Given the description of an element on the screen output the (x, y) to click on. 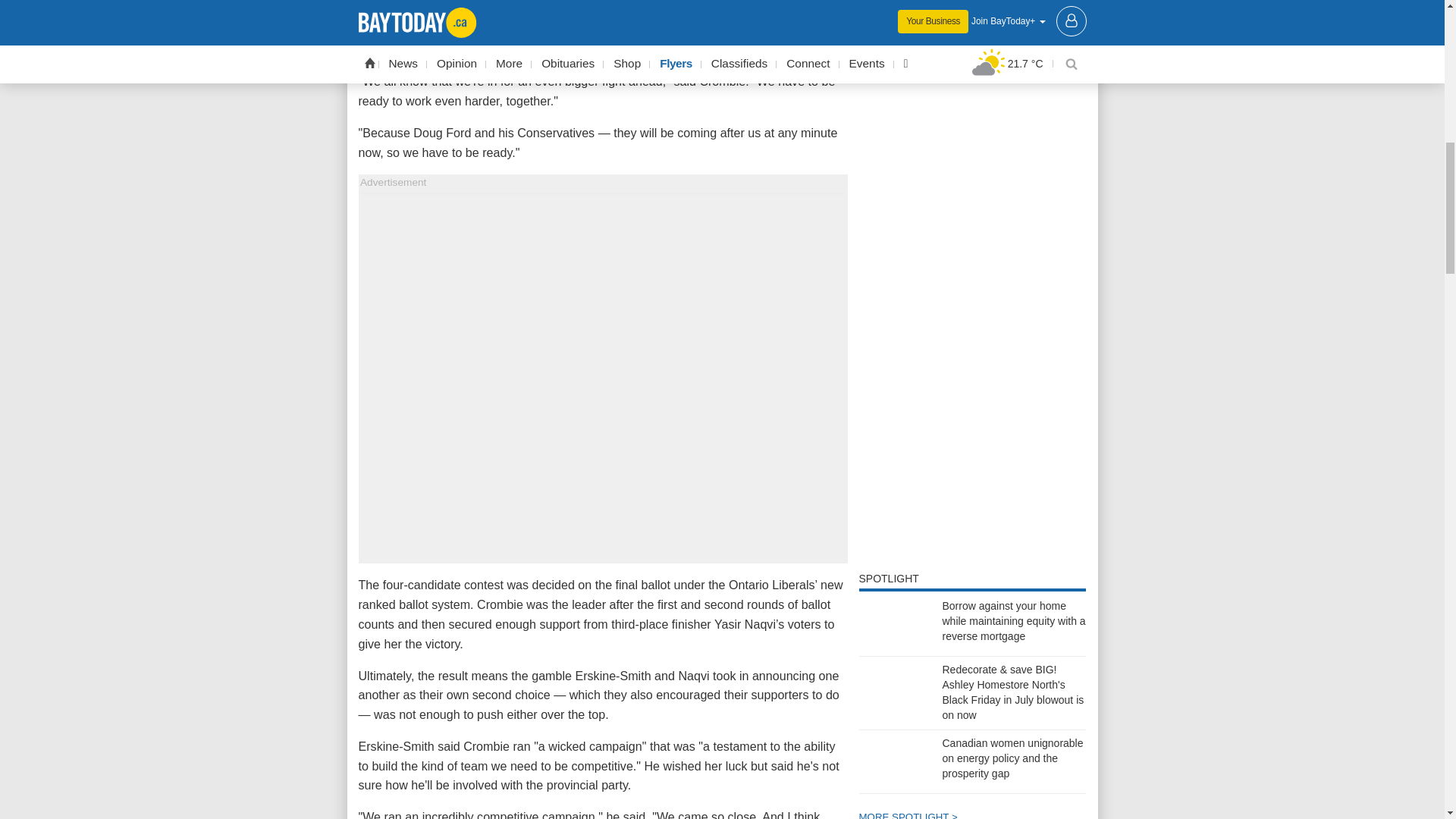
3rd party ad content (972, 511)
3rd party ad content (972, 152)
3rd party ad content (972, 21)
3rd party ad content (972, 357)
